Given the description of an element on the screen output the (x, y) to click on. 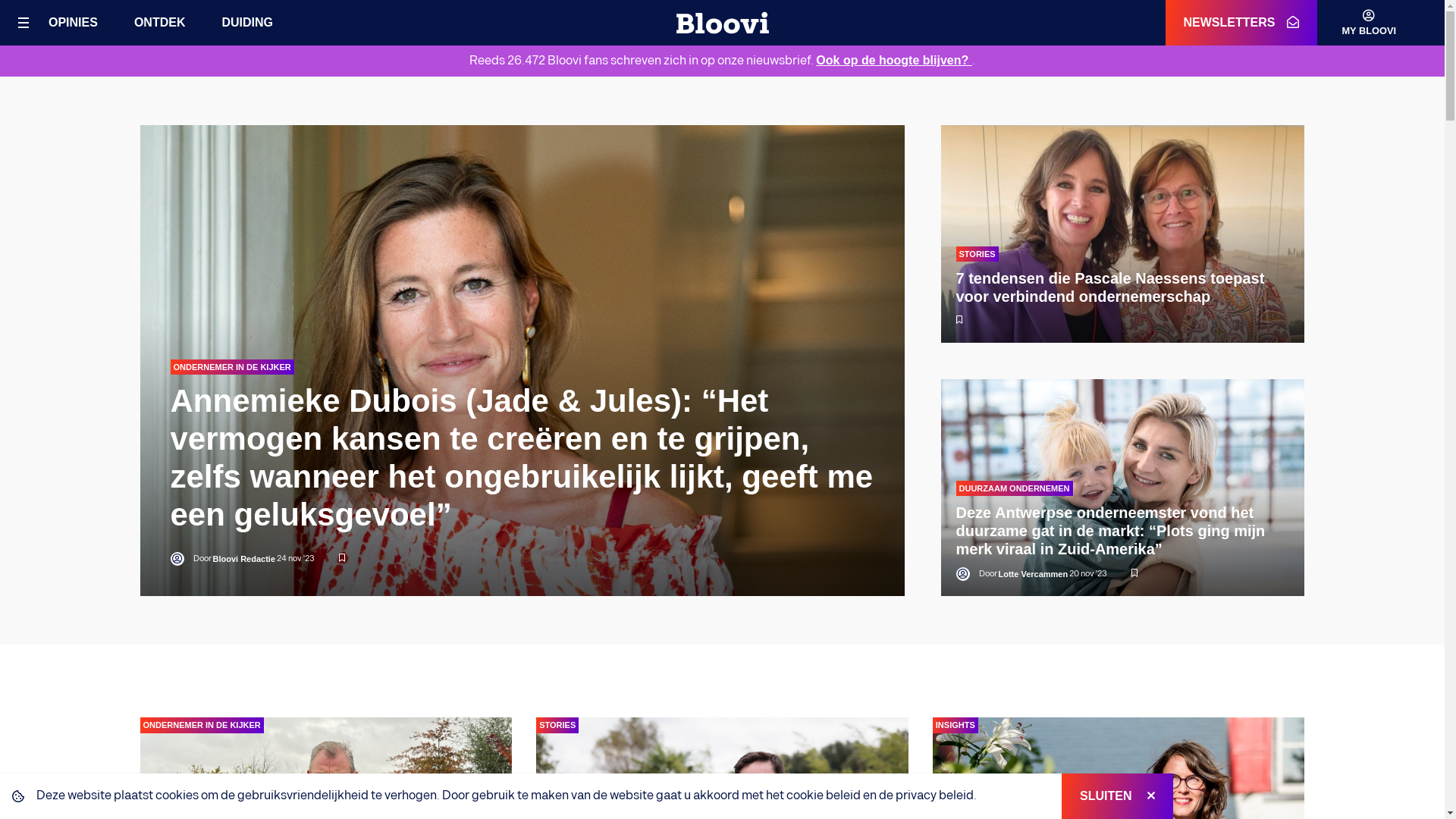
ONDERNEMER IN DE KIJKER Element type: text (231, 367)
INSIGHTS Element type: text (955, 725)
Lotte Vercammen Element type: text (1032, 573)
ONTDEK Element type: text (159, 21)
cookie beleid Element type: text (823, 795)
privacy beleid Element type: text (934, 795)
DUURZAAM ONDERNEMEN Element type: text (1013, 488)
OPINIES Element type: text (72, 21)
Bloovi Redactie Element type: text (243, 558)
DUIDING Element type: text (247, 21)
STORIES Element type: text (557, 725)
STORIES Element type: text (976, 254)
ONDERNEMER IN DE KIJKER Element type: text (201, 725)
Ook op de hoogte blijven? Element type: text (893, 60)
MY BLOOVI Element type: text (1356, 22)
NEWSLETTERS Element type: text (1241, 22)
